Given the description of an element on the screen output the (x, y) to click on. 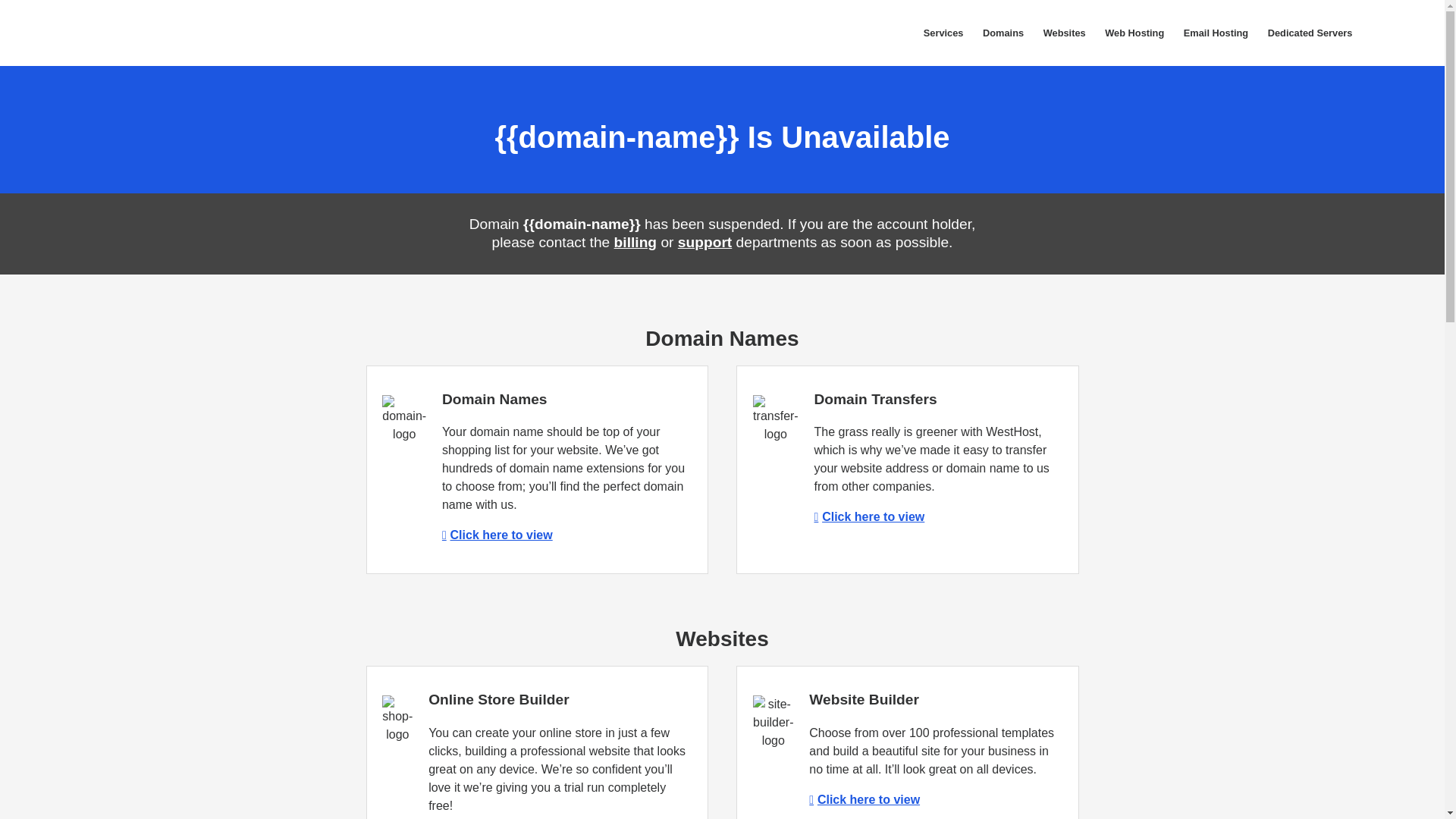
Click here to view (868, 516)
Dedicated Servers (1309, 32)
Click here to view (864, 799)
Email Hosting (1215, 32)
billing (636, 242)
Click here to view (497, 534)
Websites (1064, 32)
Web Hosting (1133, 32)
Services (943, 32)
Domains (1002, 32)
support (705, 242)
